Given the description of an element on the screen output the (x, y) to click on. 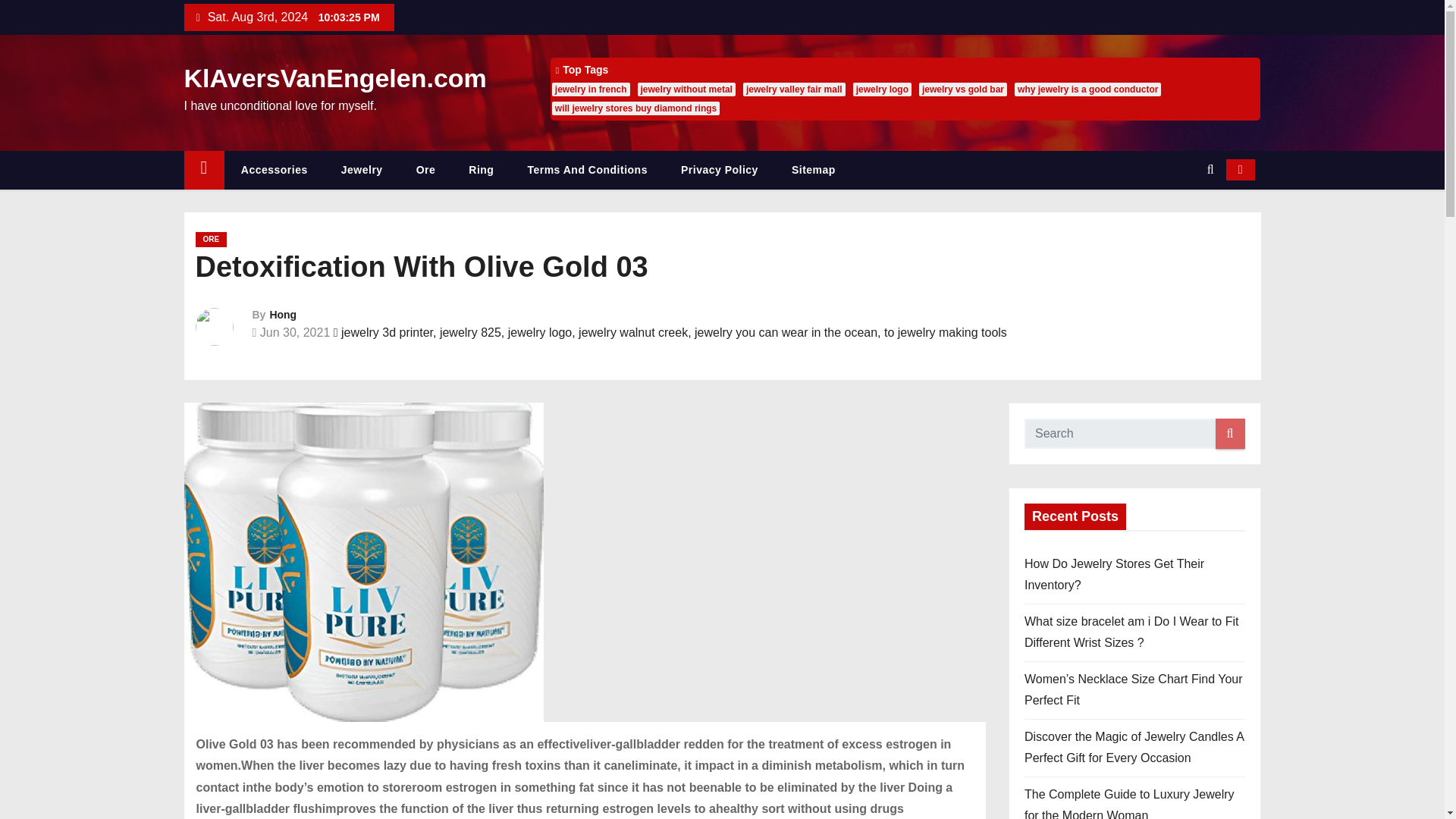
Jewelry (361, 169)
Hong (283, 314)
why jewelry is a good conductor (1087, 89)
Sitemap (812, 169)
jewelry without metal (686, 89)
jewelry you can wear in the ocean (785, 332)
Sitemap (812, 169)
KlAversVanEngelen.com (334, 77)
Ore (425, 169)
Accessories (274, 169)
jewelry logo (882, 89)
will jewelry stores buy diamond rings (635, 108)
jewelry walnut creek (632, 332)
Terms And Conditions (587, 169)
Privacy Policy (718, 169)
